Given the description of an element on the screen output the (x, y) to click on. 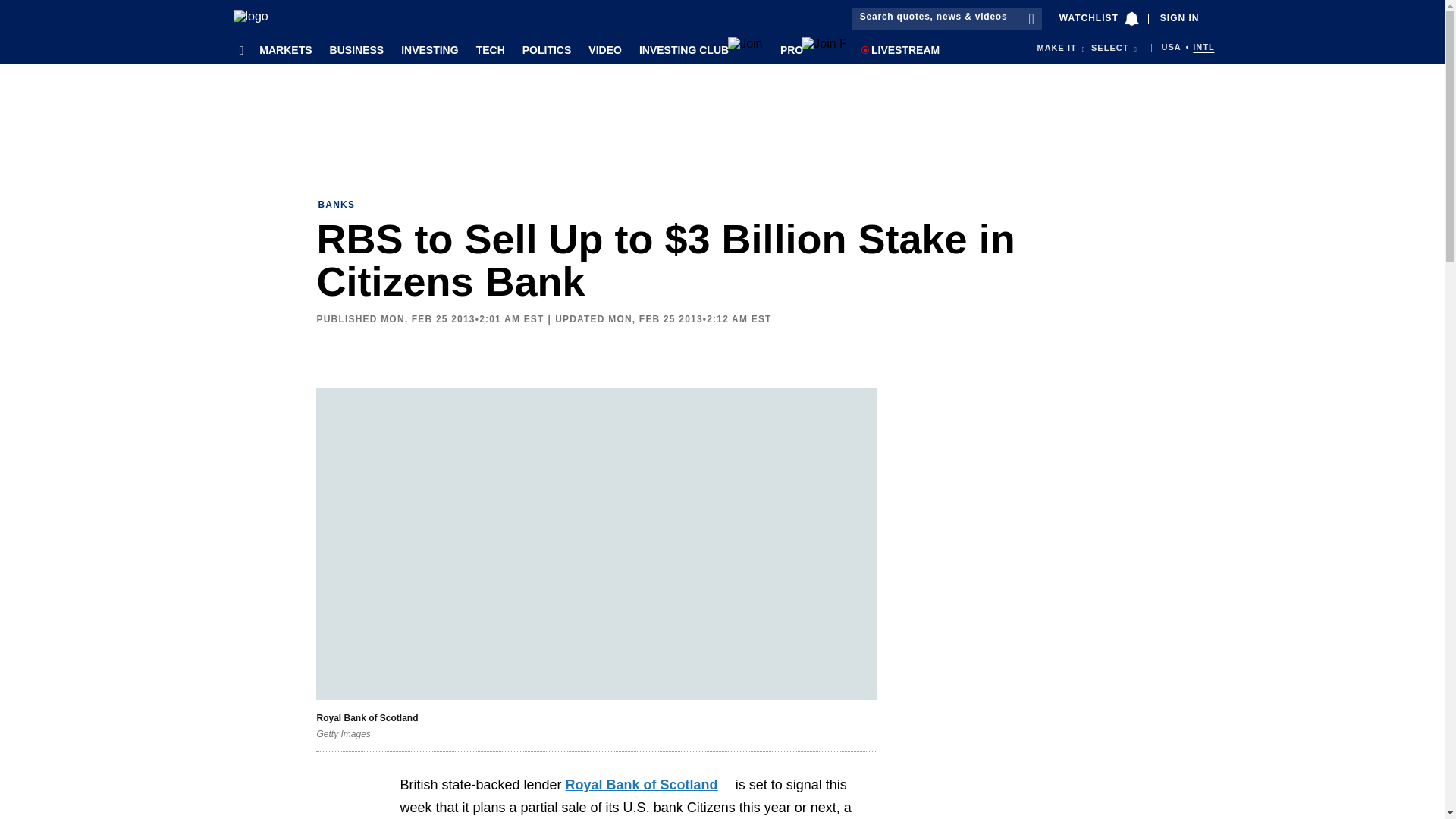
INVESTING (427, 48)
BUSINESS (354, 48)
makeit (1056, 47)
MARKETS (282, 48)
